Given the description of an element on the screen output the (x, y) to click on. 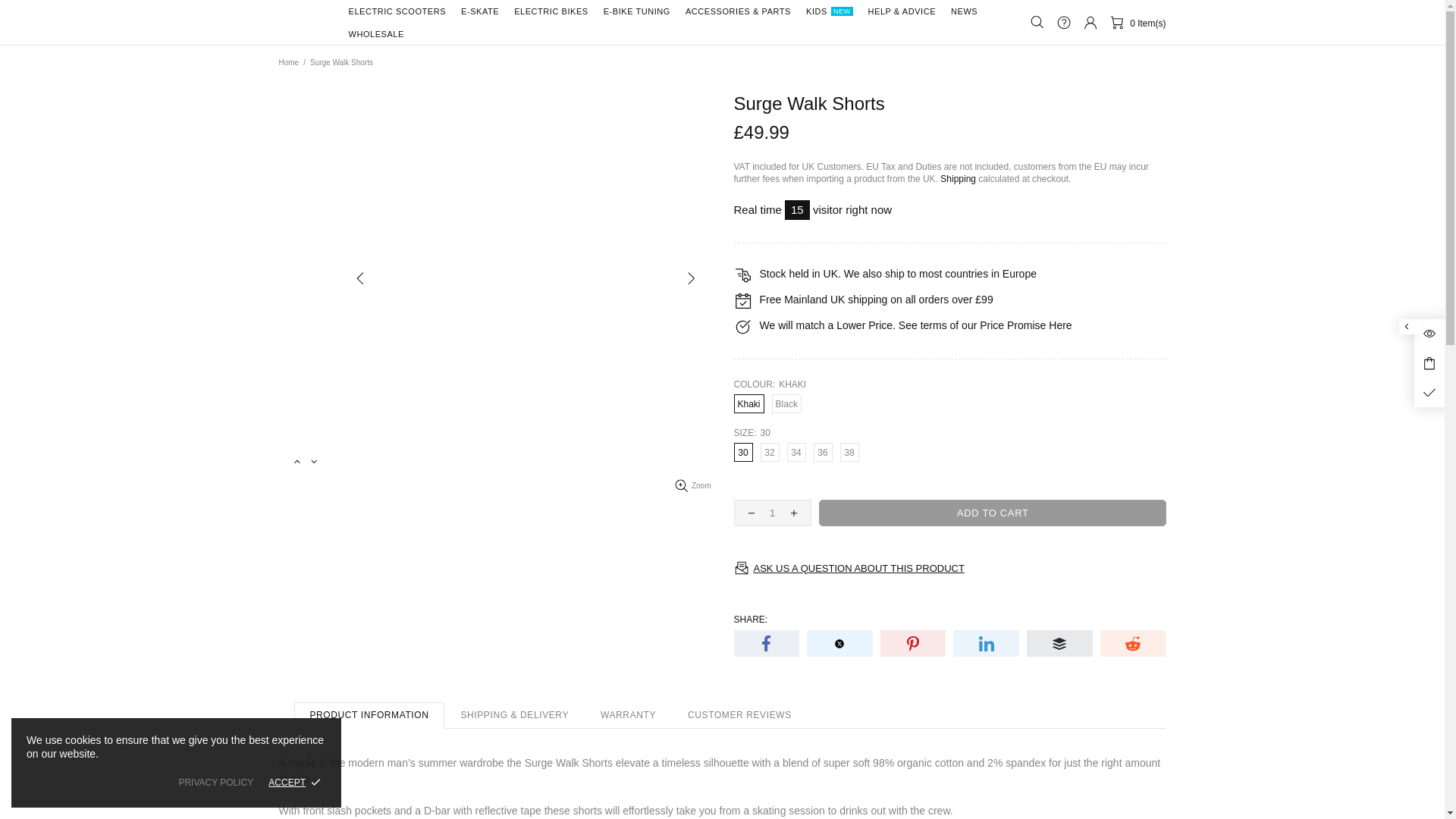
Price Match Promise (1059, 325)
Beyond PEV (304, 22)
ELECTRIC SCOOTERS (397, 11)
1 (771, 512)
